Given the description of an element on the screen output the (x, y) to click on. 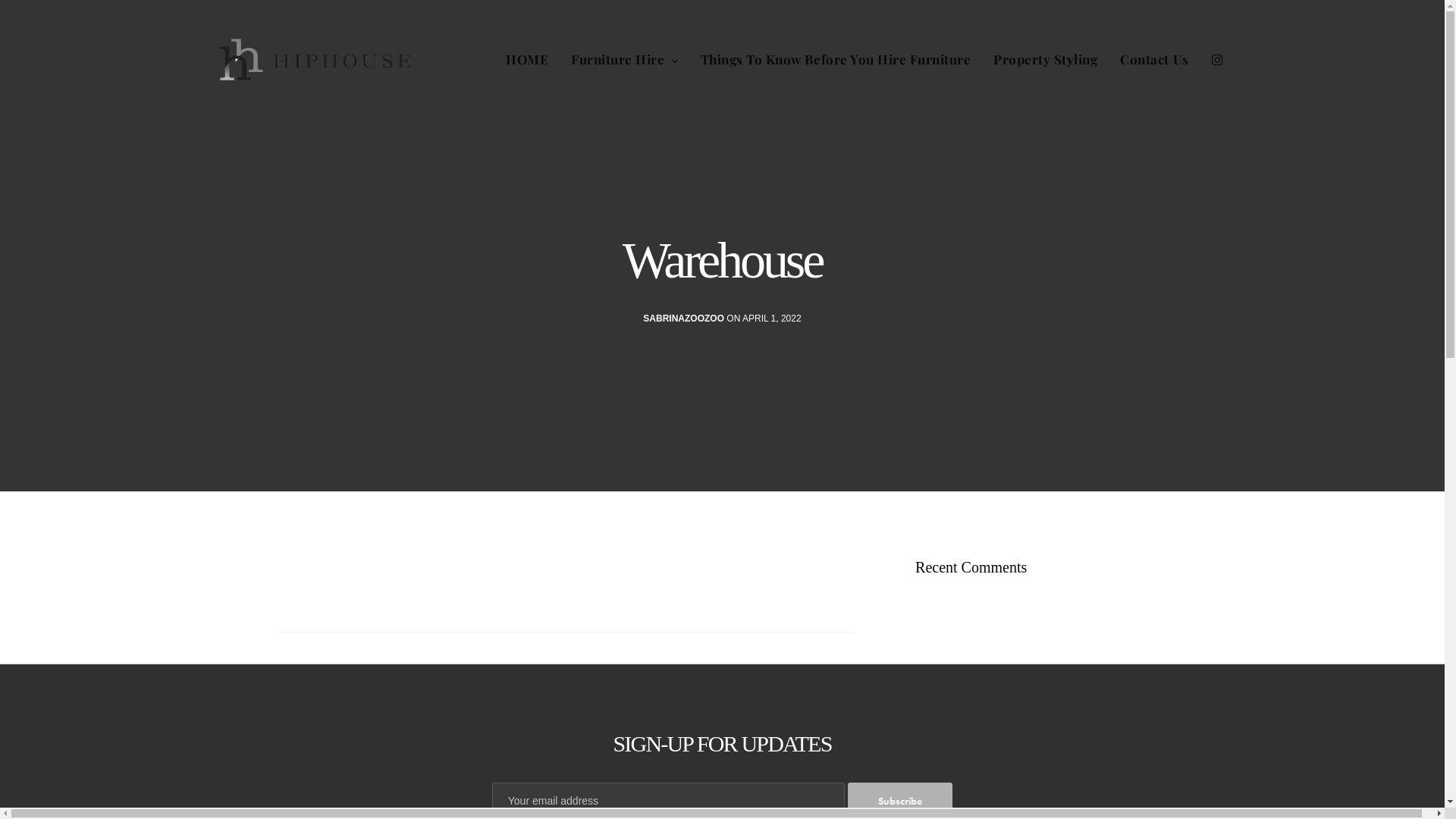
Furniture Hire Element type: text (624, 59)
SABRINAZOOZOO Element type: text (683, 318)
Contact Us Element type: text (1154, 59)
Property Styling Element type: text (1045, 59)
HOME Element type: text (526, 59)
Things To Know Before You Hire Furniture Element type: text (835, 59)
HipHouse Home Styling Element type: hover (316, 59)
